Given the description of an element on the screen output the (x, y) to click on. 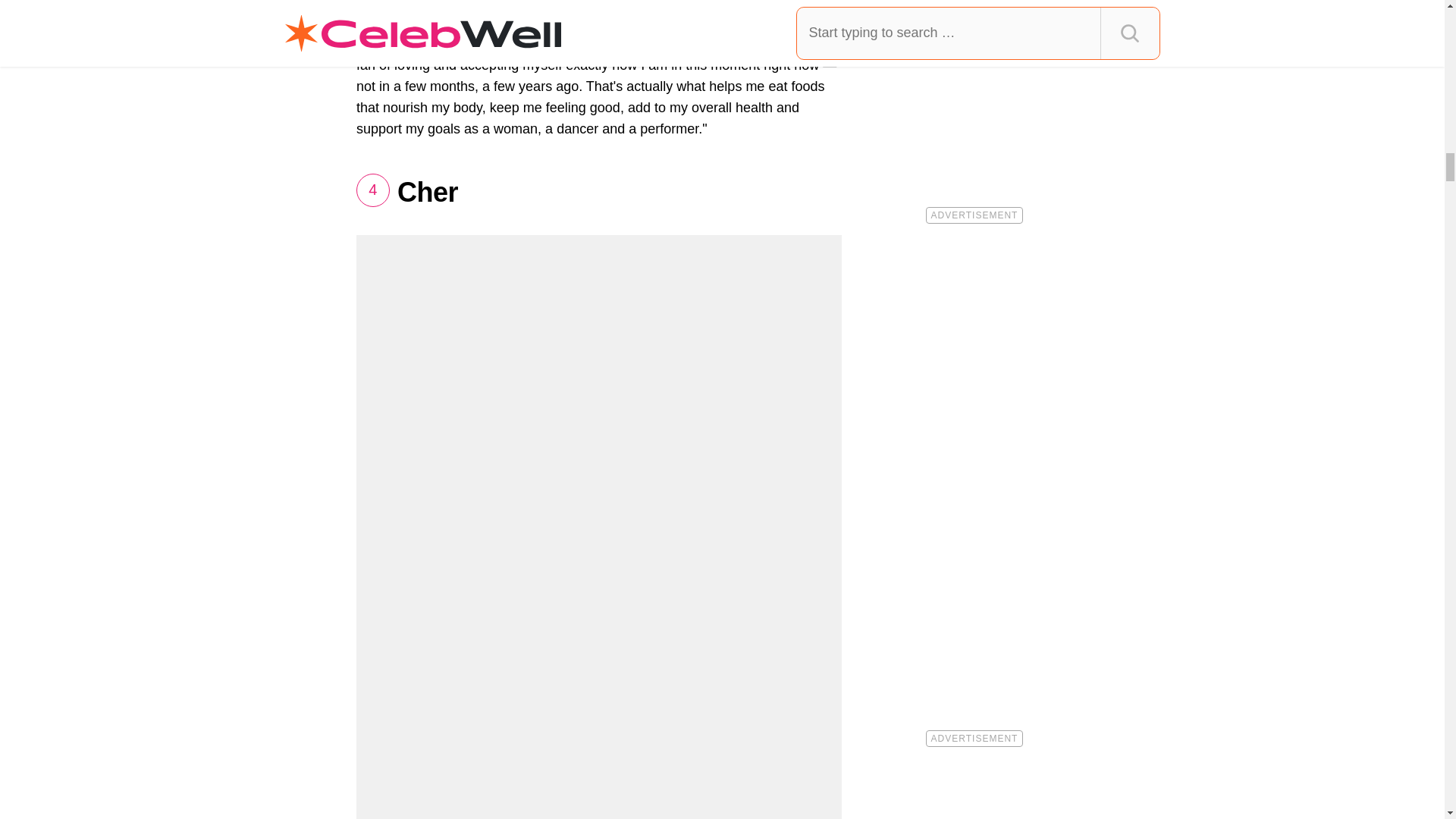
Us Weekly (493, 45)
